Given the description of an element on the screen output the (x, y) to click on. 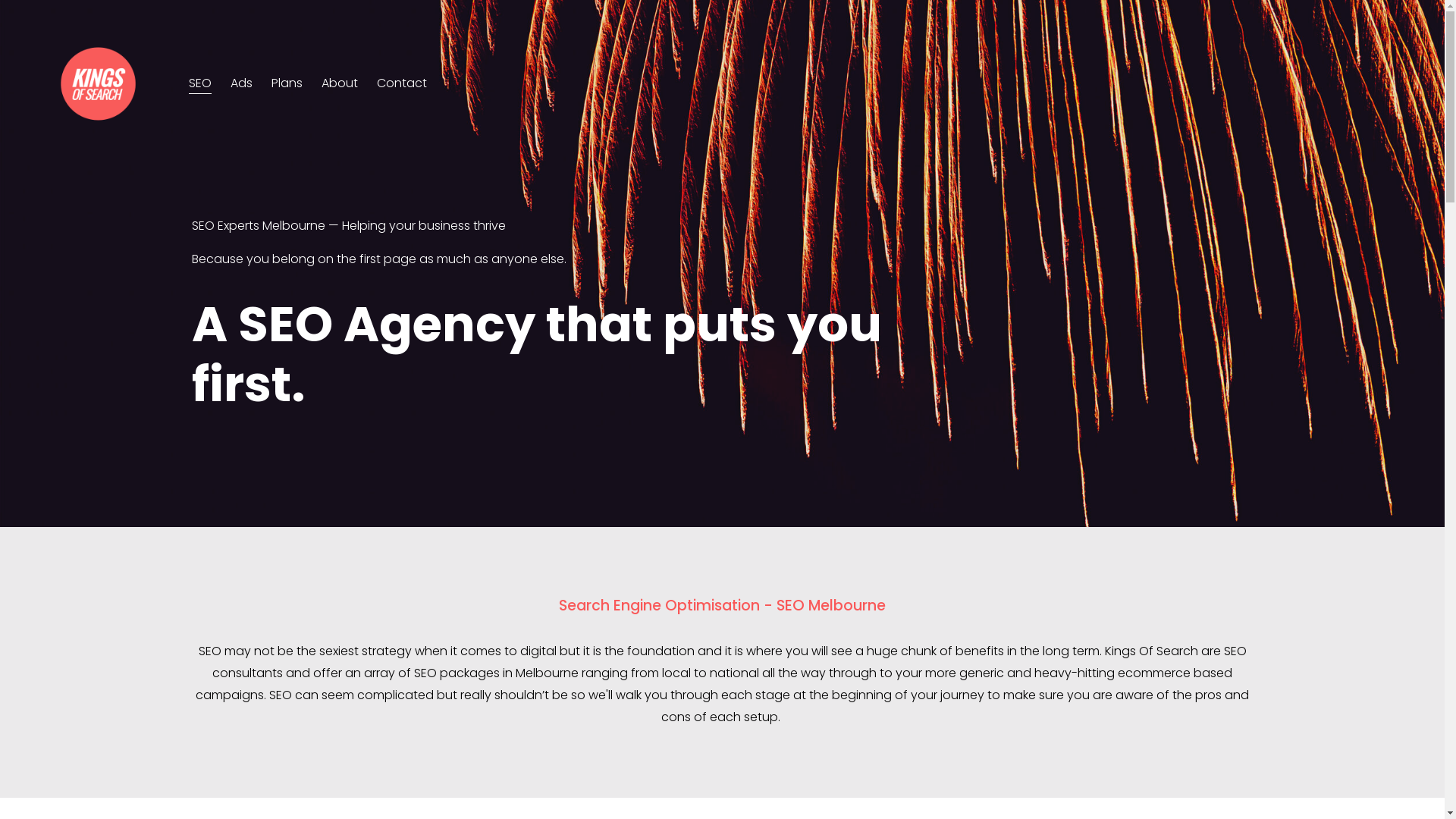
Contact Element type: text (401, 83)
SEO Element type: text (199, 83)
Ads Element type: text (241, 83)
About Element type: text (339, 83)
Plans Element type: text (286, 83)
